Given the description of an element on the screen output the (x, y) to click on. 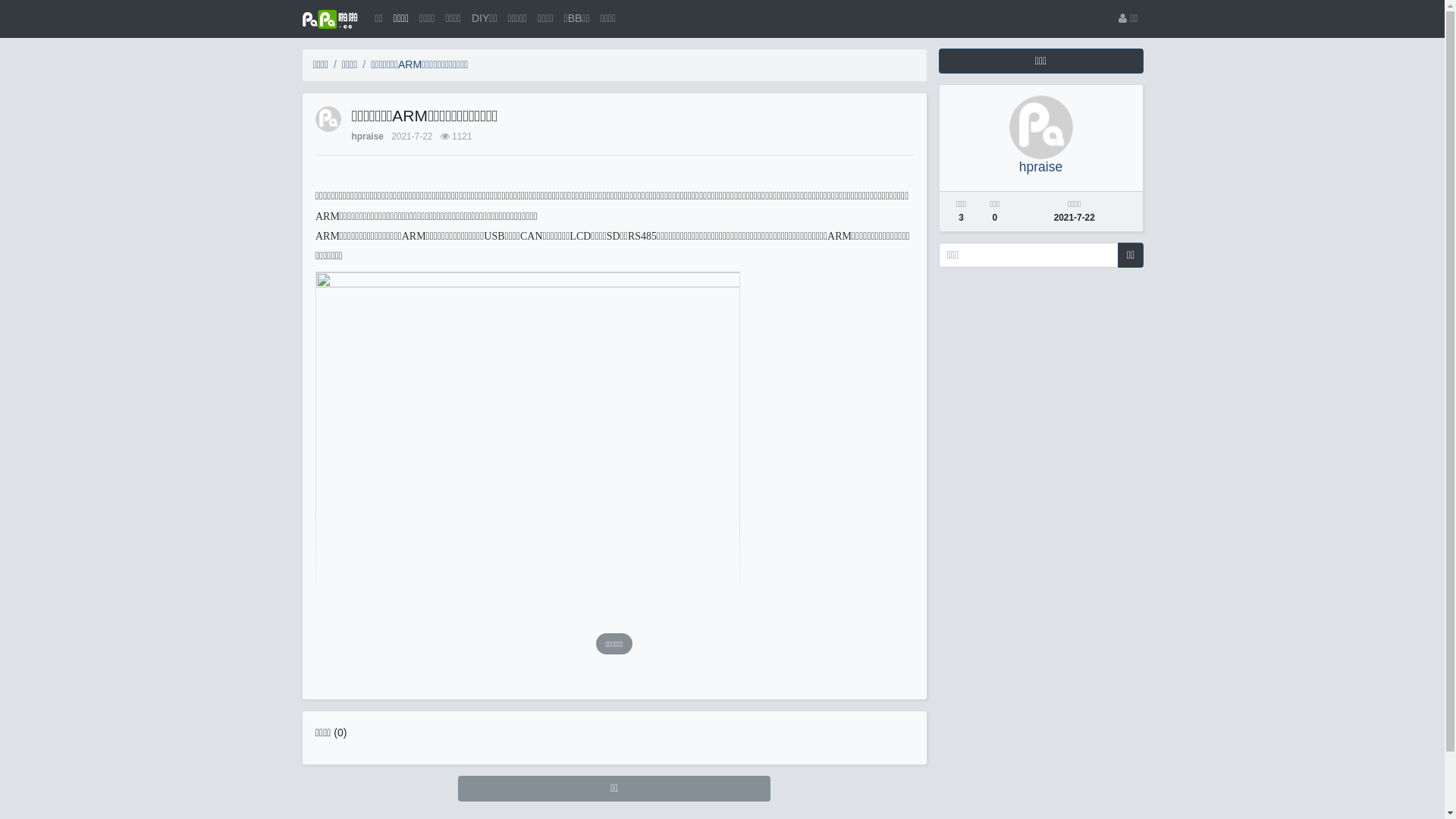
hpraise Element type: text (367, 136)
hpraise Element type: text (1040, 166)
